Given the description of an element on the screen output the (x, y) to click on. 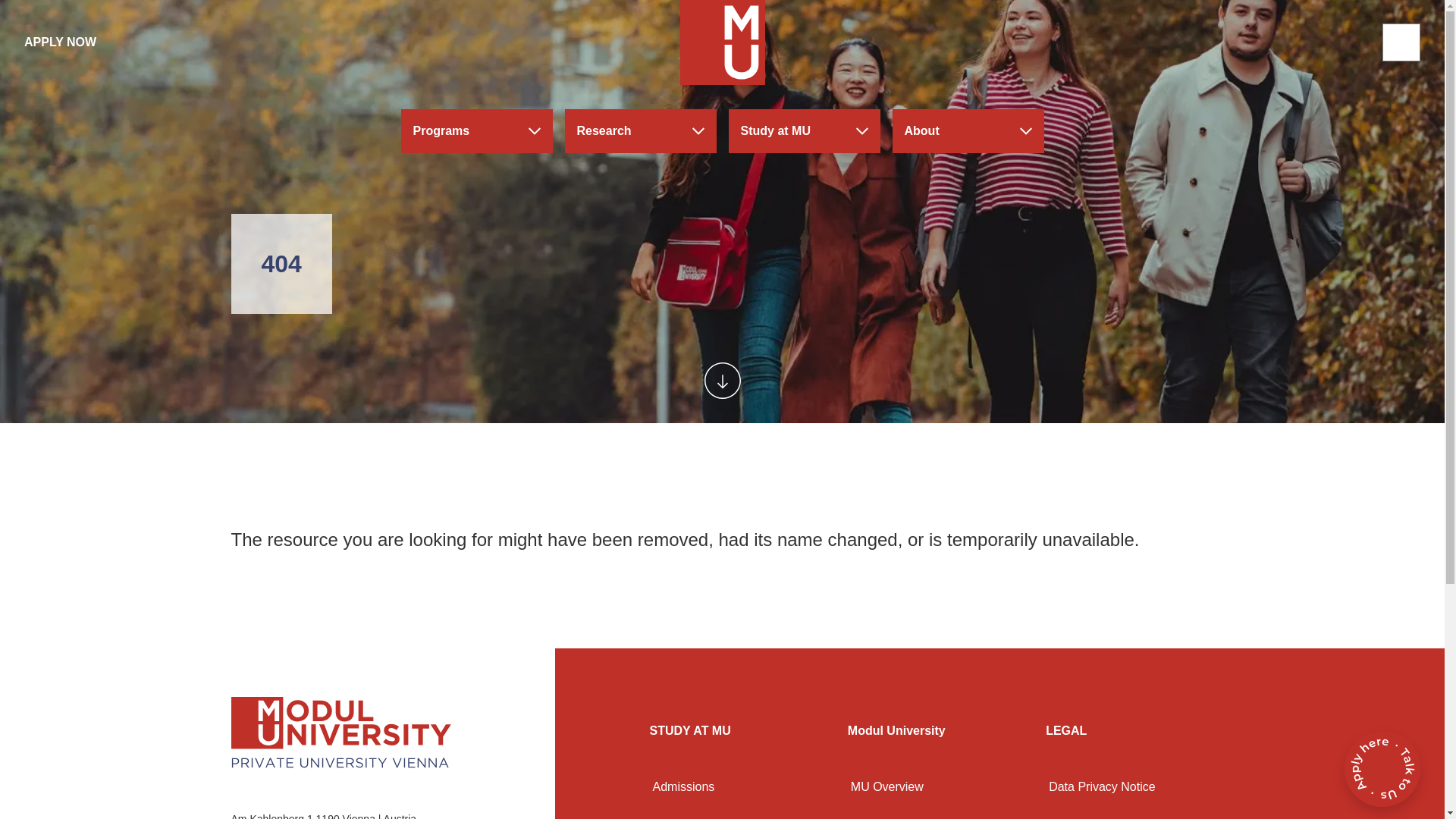
APPLY NOW (60, 42)
Programs (475, 130)
SEARCH (1401, 42)
